Given the description of an element on the screen output the (x, y) to click on. 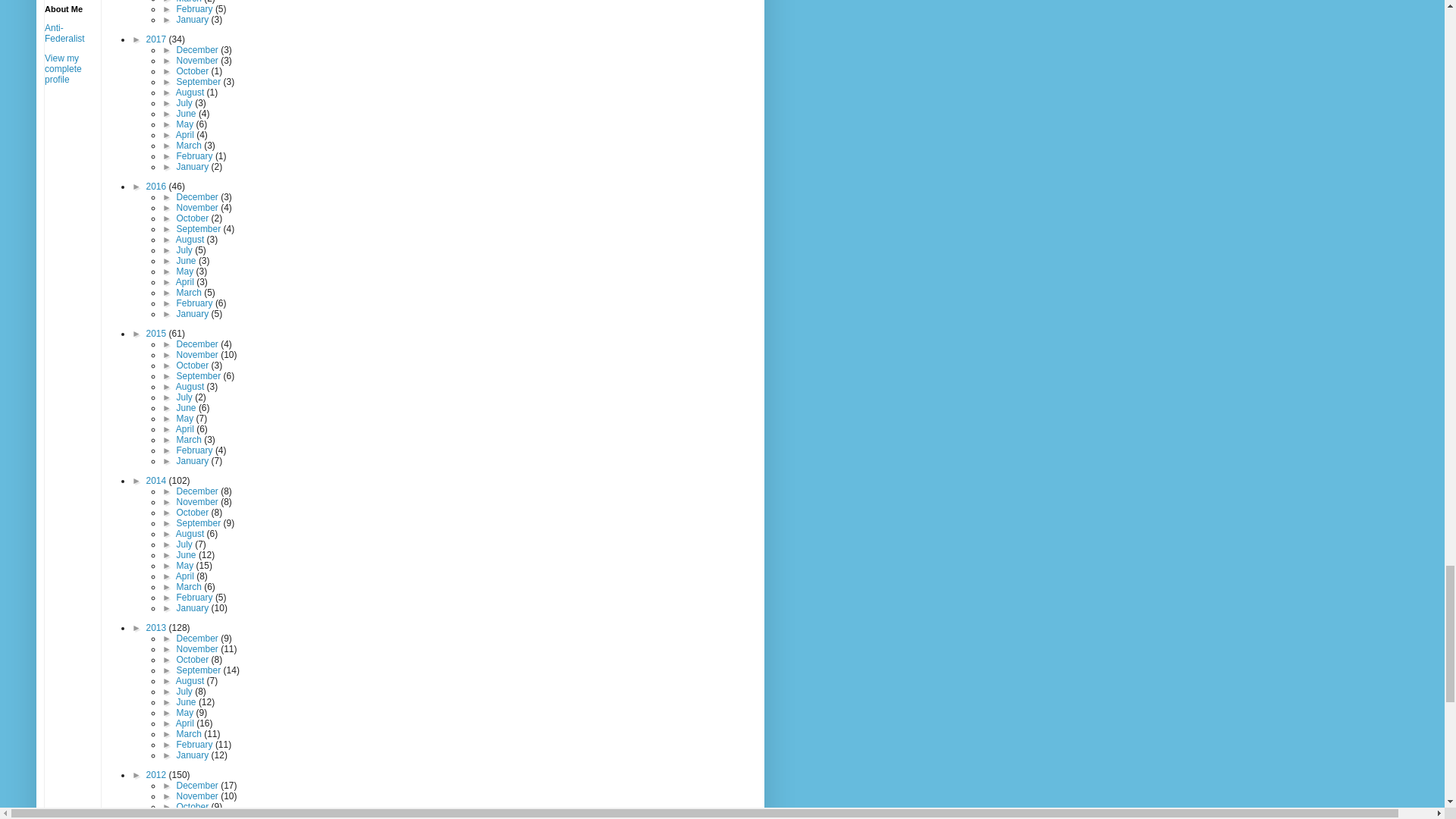
Anti-Federalist (64, 33)
View my complete profile (63, 69)
